Given the description of an element on the screen output the (x, y) to click on. 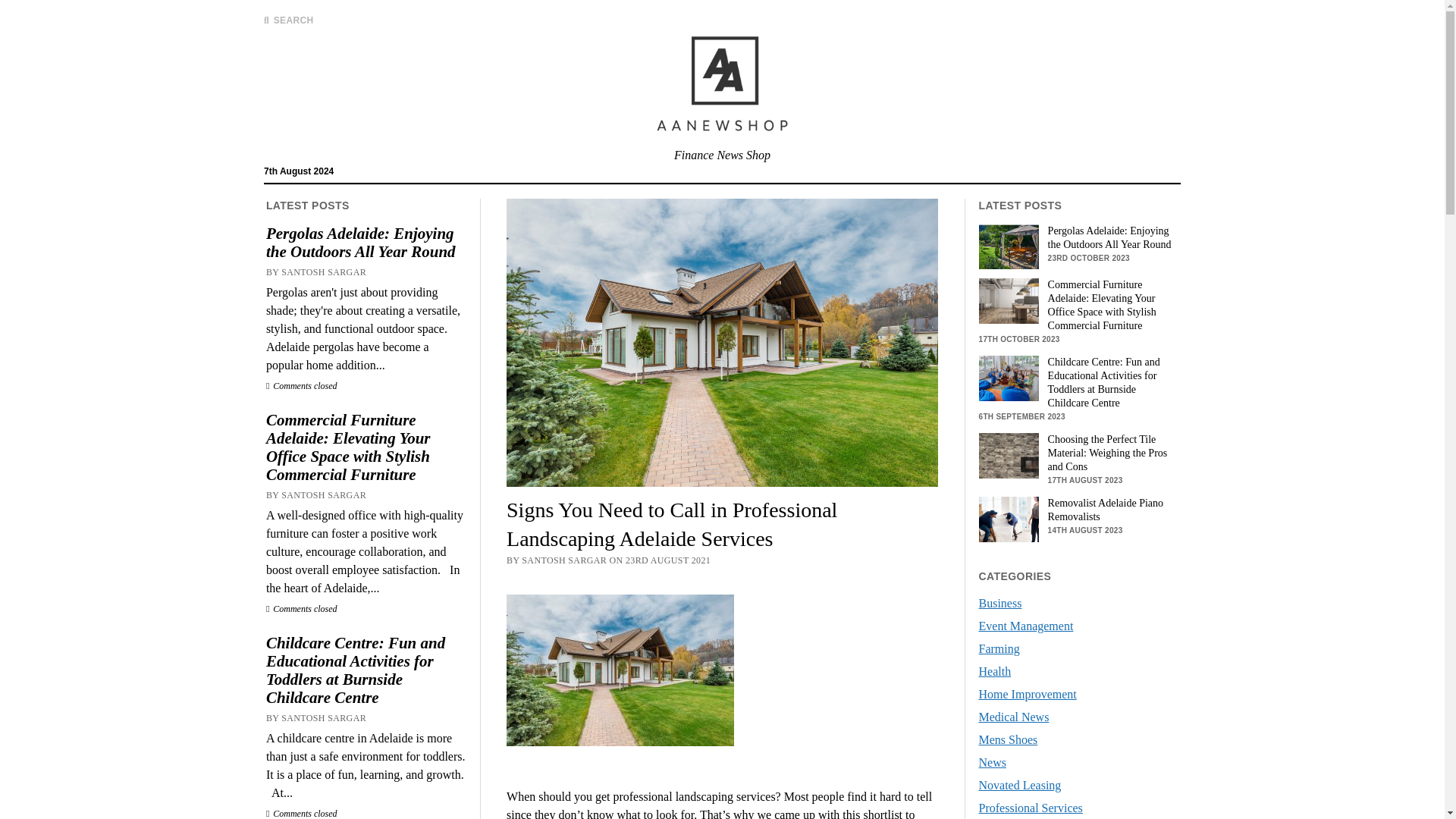
Adelaide pergolas (1008, 246)
Pergolas Adelaide: Enjoying the Outdoors All Year Round (365, 242)
Comments closed (301, 813)
Burnside childcare centre (1008, 377)
Search (945, 129)
Comments closed (301, 608)
commercial furniture Adelaide (1008, 300)
Pergolas Adelaide: Enjoying the Outdoors All Year Round (1078, 237)
Adelaide tiles (1008, 455)
SEARCH (288, 20)
